Given the description of an element on the screen output the (x, y) to click on. 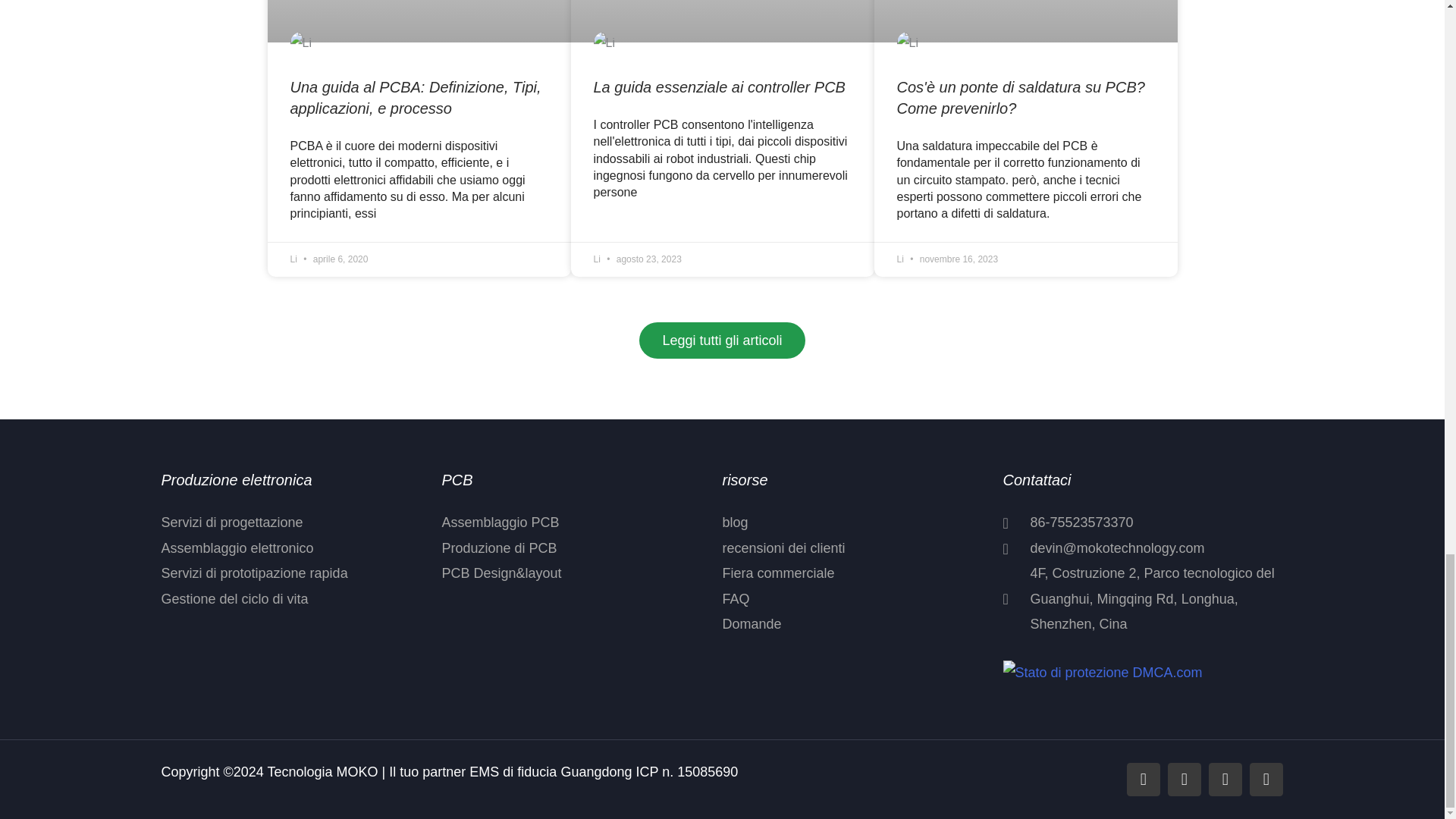
Stato di protezione DMCA.com (1102, 672)
